Given the description of an element on the screen output the (x, y) to click on. 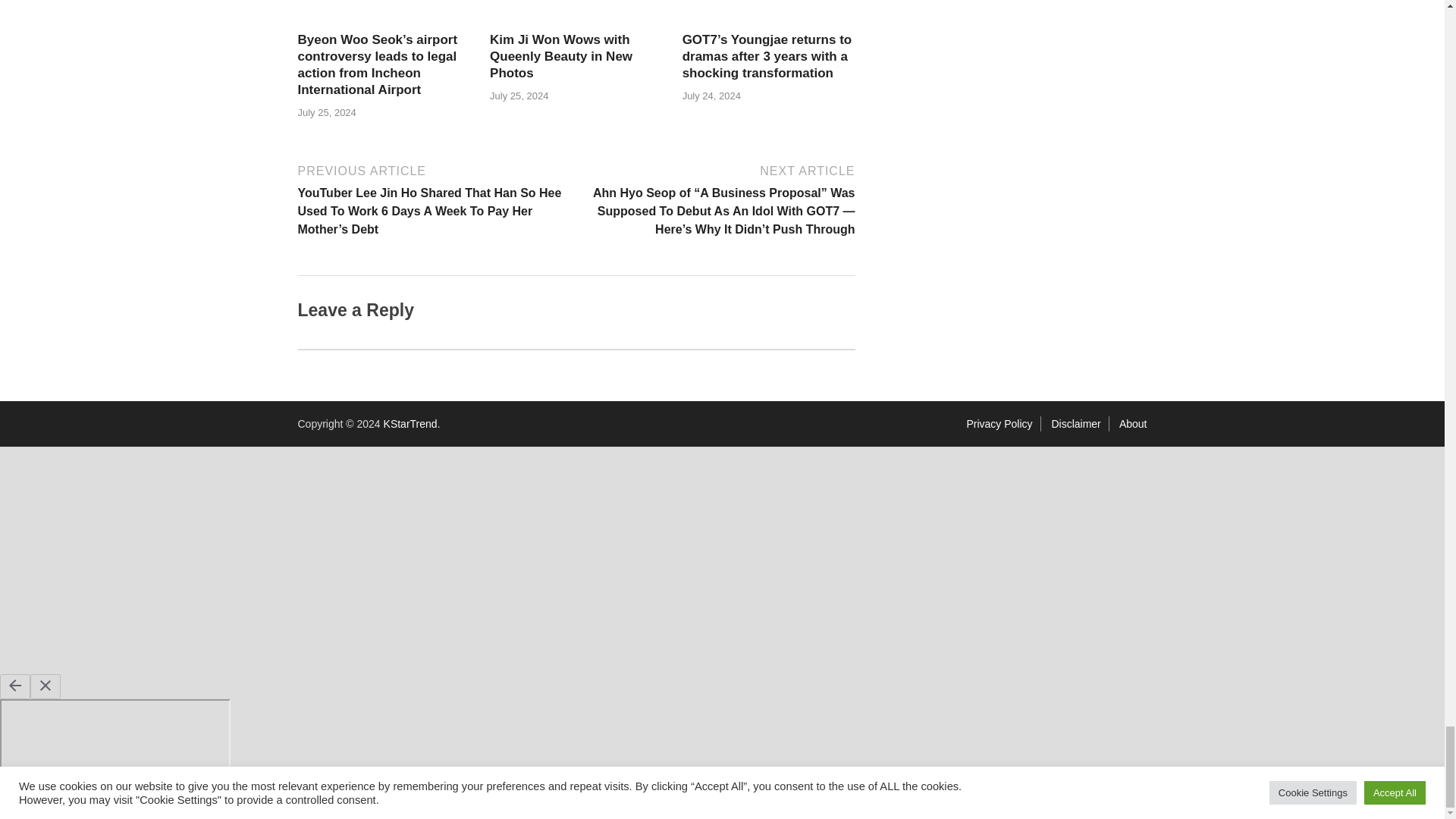
Kim Ji Won Wows with Queenly Beauty in New Photos (560, 56)
Kim Ji Won Wows with Queenly Beauty in New Photos (560, 56)
